Given the description of an element on the screen output the (x, y) to click on. 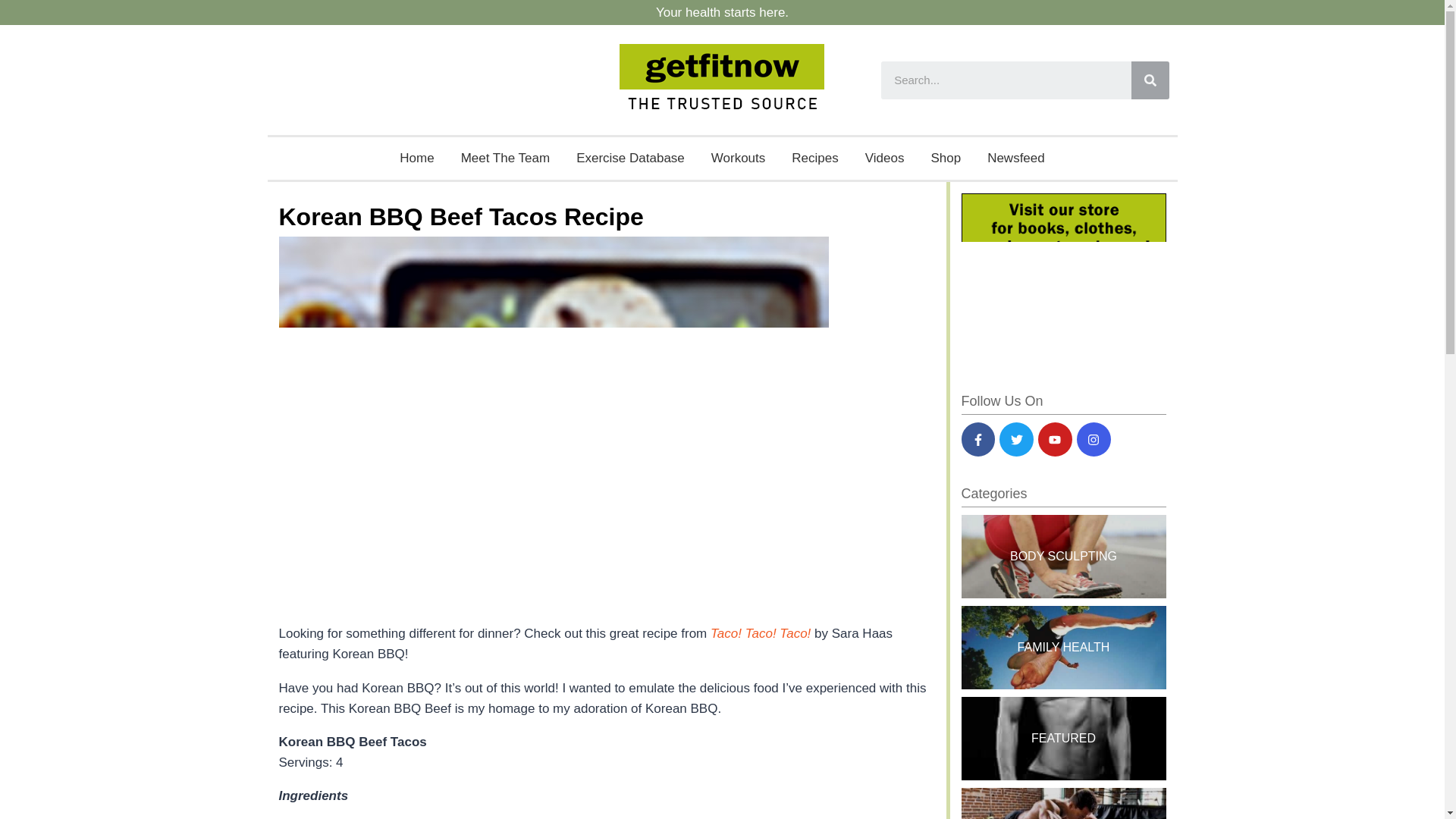
Workouts (738, 157)
Home (416, 157)
Recipes (814, 157)
Videos (884, 157)
Shop (945, 157)
Meet The Team (505, 157)
Taco! Taco! Taco! (760, 633)
Newsfeed (1016, 157)
Search (1150, 80)
Search (1005, 80)
